Given the description of an element on the screen output the (x, y) to click on. 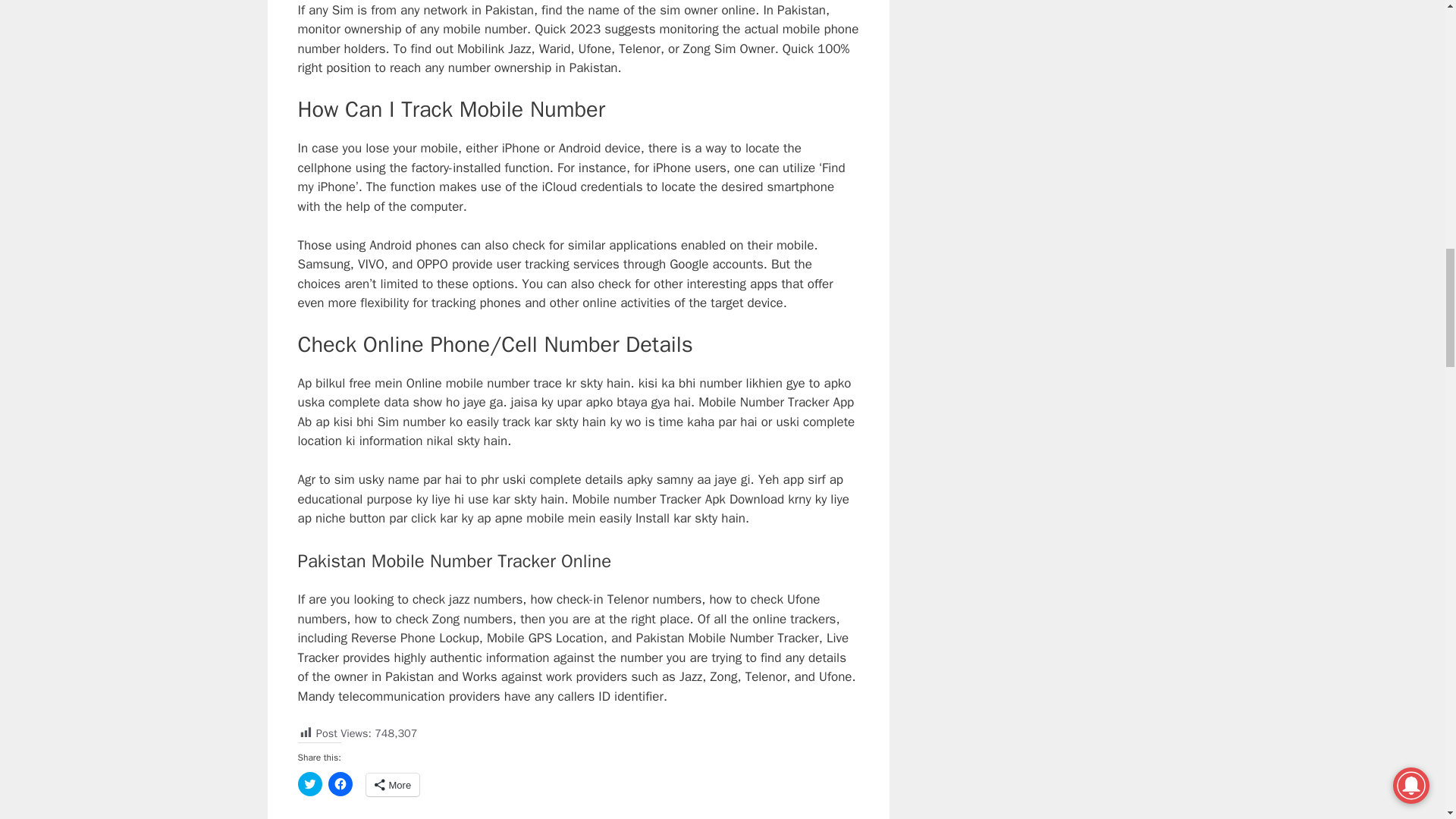
Click to share on Twitter (309, 784)
Click to share on Facebook (339, 784)
More (392, 784)
